Given the description of an element on the screen output the (x, y) to click on. 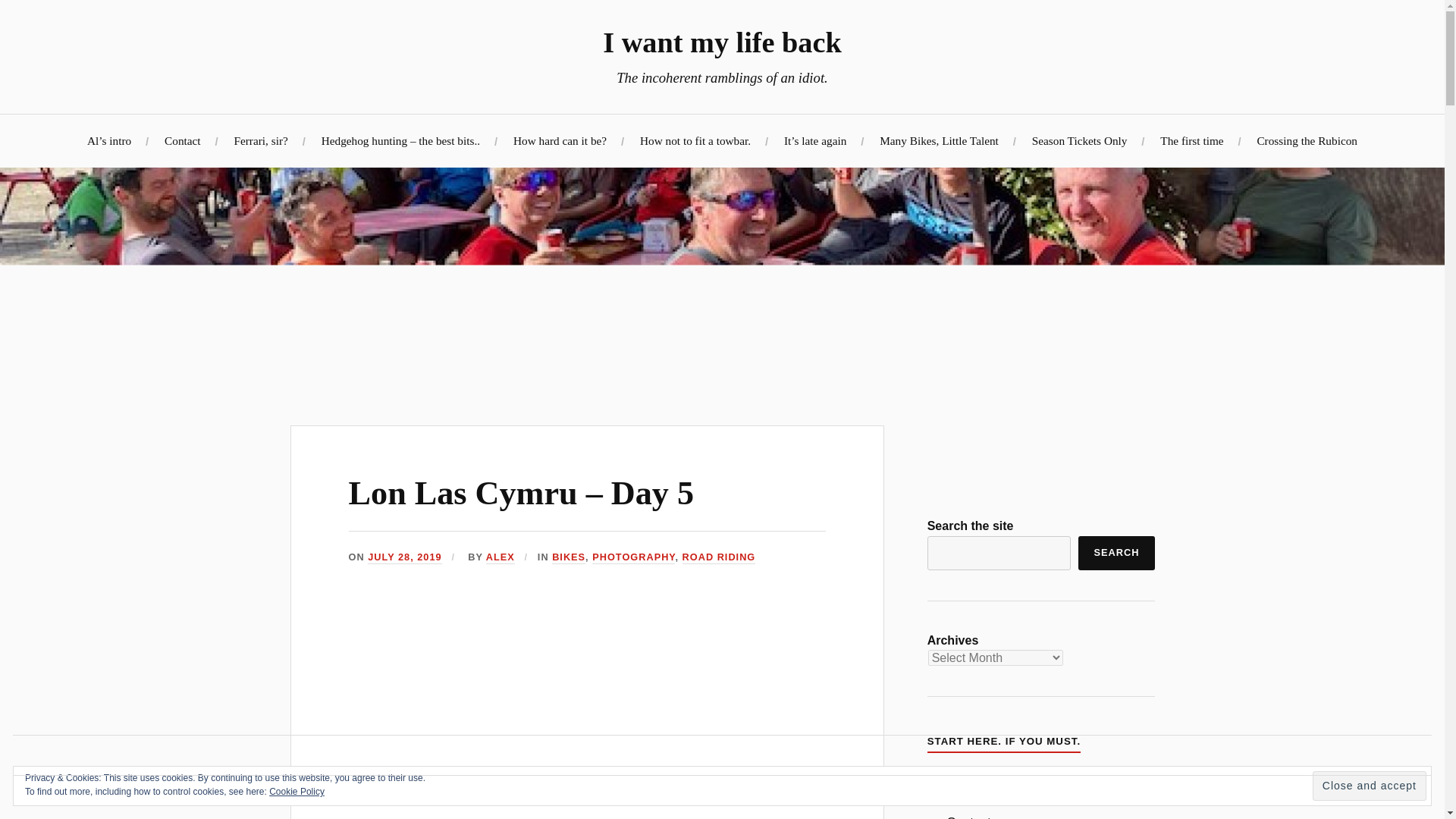
Ferrari, sir? (259, 140)
Close and accept (1369, 785)
BIKES (568, 557)
How not to fit a towbar. (695, 140)
ALEX (500, 557)
JULY 28, 2019 (404, 557)
ROAD RIDING (718, 557)
Many Bikes, Little Talent (938, 140)
I want my life back (721, 42)
Crossing the Rubicon (1306, 140)
The first time (1191, 140)
PHOTOGRAPHY (633, 557)
How hard can it be? (560, 140)
Season Tickets Only (1079, 140)
